Given the description of an element on the screen output the (x, y) to click on. 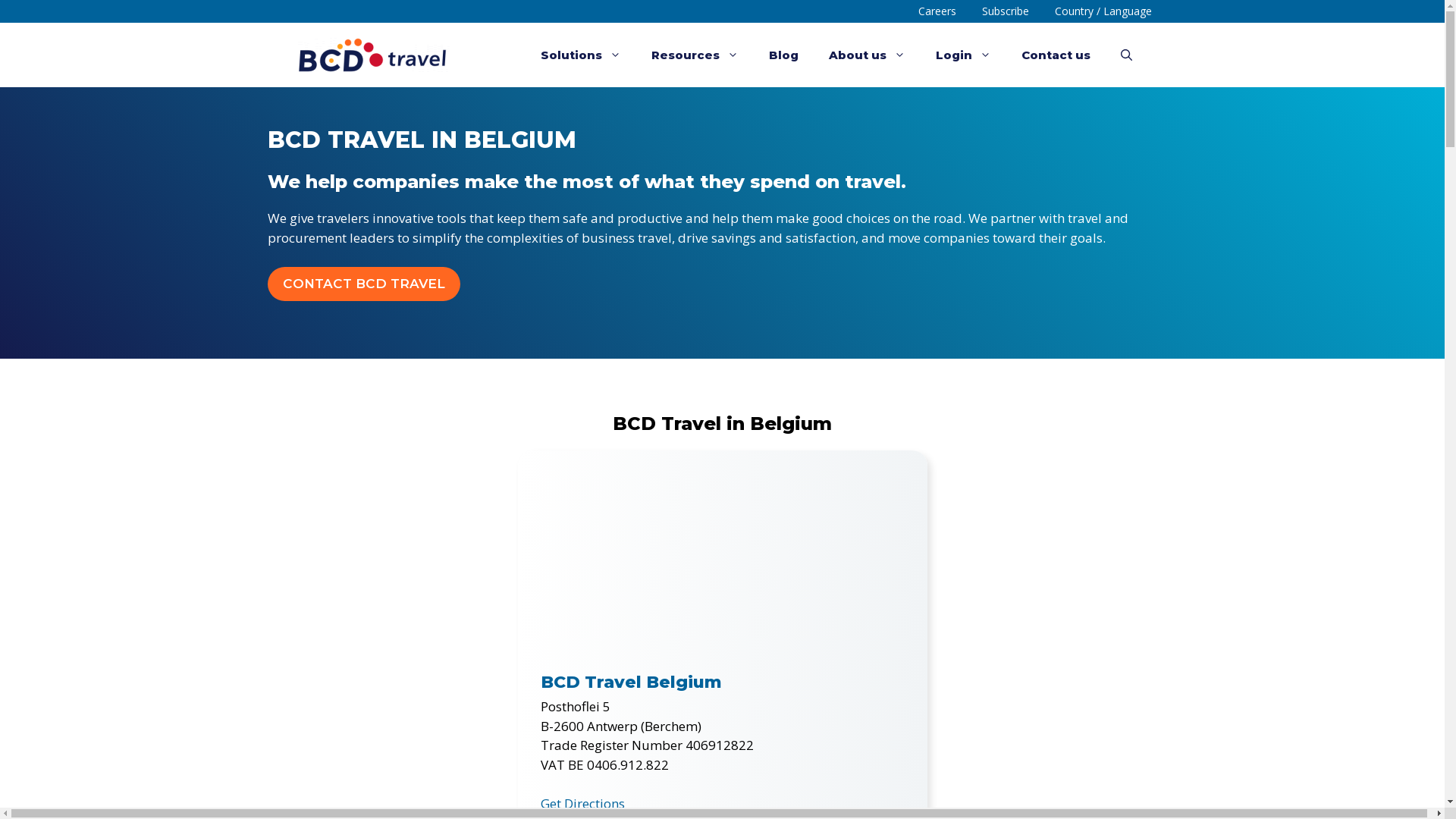
Get Directions Element type: text (581, 803)
BCD Travel Element type: hover (372, 54)
Country / Language Element type: text (1102, 11)
CONTACT BCD TRAVEL Element type: text (362, 283)
Resources Element type: text (694, 54)
About us Element type: text (865, 54)
Subscribe Element type: text (1005, 11)
BCD Travel Belgium Element type: text (630, 681)
Login Element type: text (963, 54)
Blog Element type: text (783, 54)
Solutions Element type: text (579, 54)
Careers Element type: text (937, 11)
Contact us Element type: text (1054, 54)
